Given the description of an element on the screen output the (x, y) to click on. 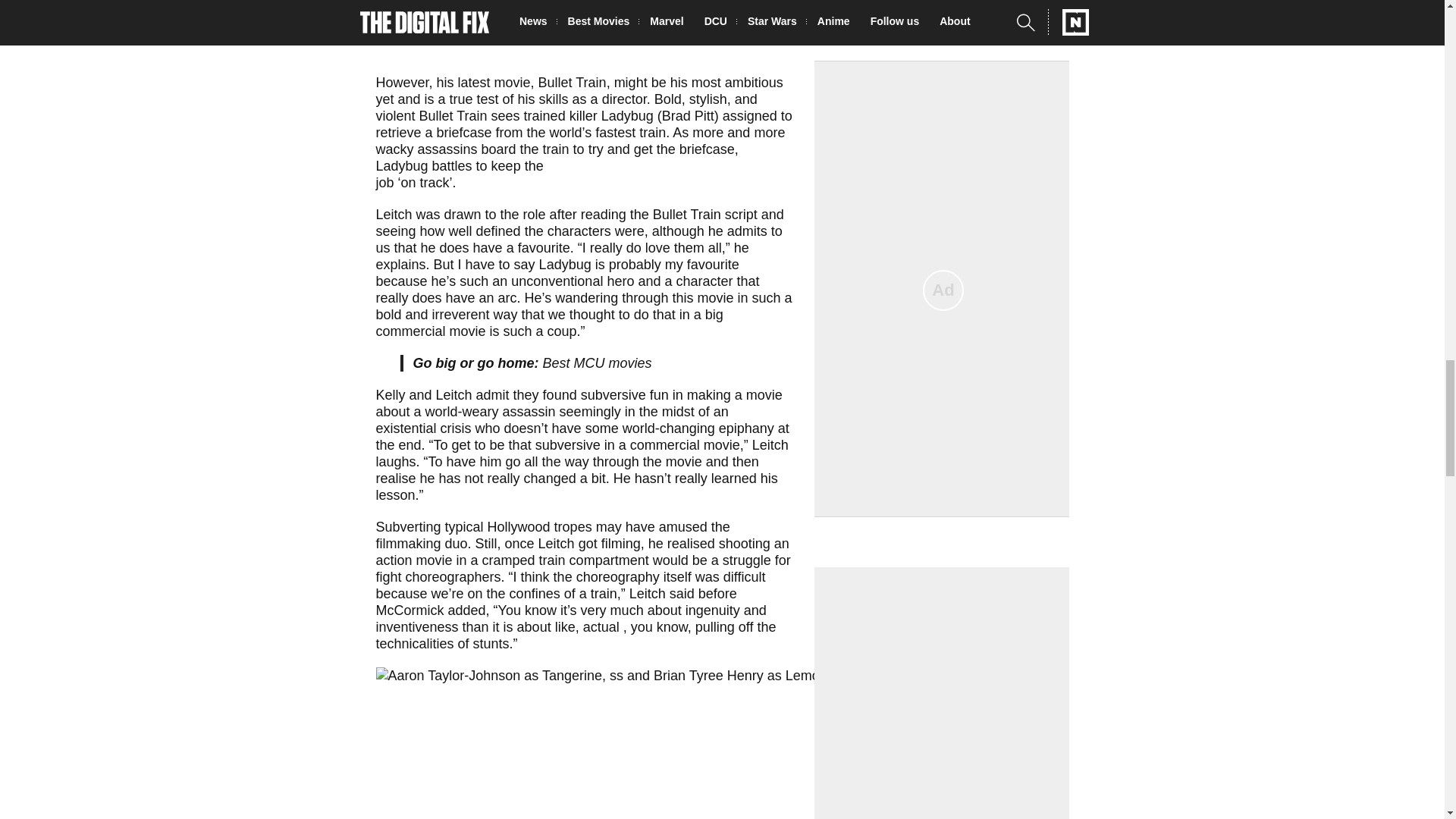
MCU movies (612, 363)
